Given the description of an element on the screen output the (x, y) to click on. 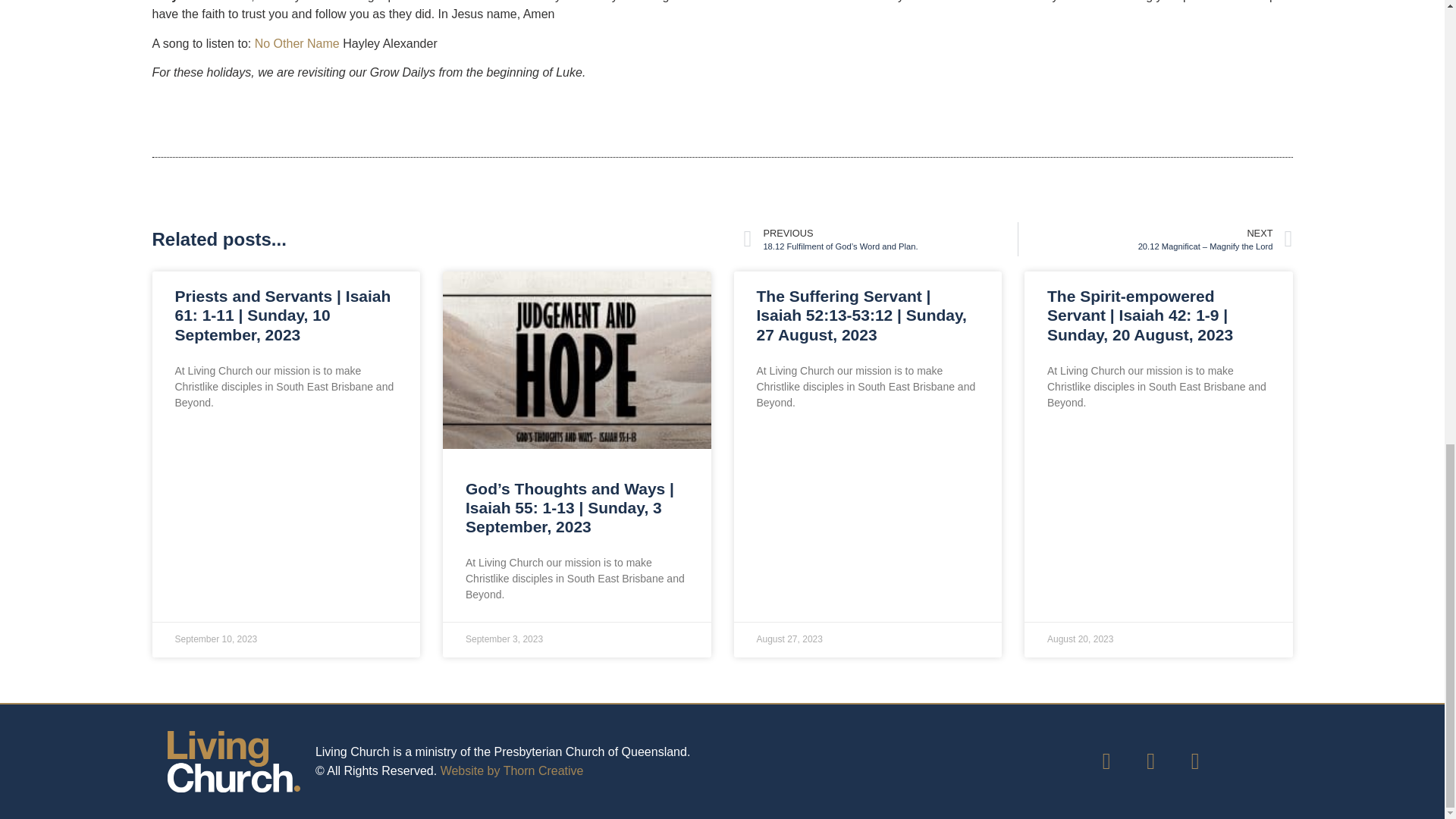
No Other Name (296, 42)
